Given the description of an element on the screen output the (x, y) to click on. 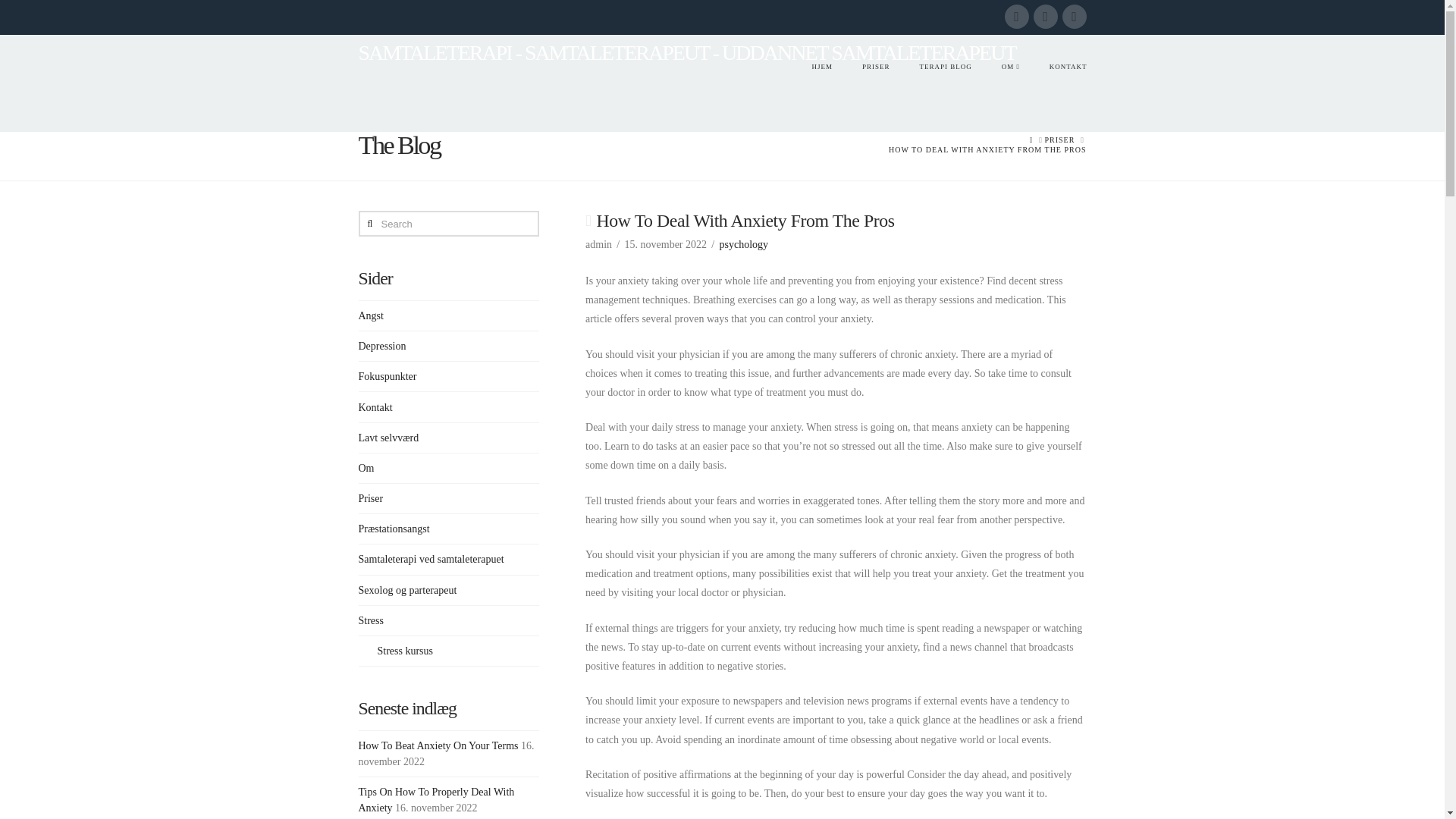
Angst (370, 315)
Fokuspunkter (387, 376)
Behance (1073, 16)
How To Beat Anxiety On Your Terms (438, 745)
Kontakt (374, 407)
HOW TO DEAL WITH ANXIETY FROM THE PROS (987, 149)
Samtaleterapi ved samtaleterapuet (430, 559)
Depression (382, 345)
Facebook (1015, 16)
psychology (743, 244)
